Given the description of an element on the screen output the (x, y) to click on. 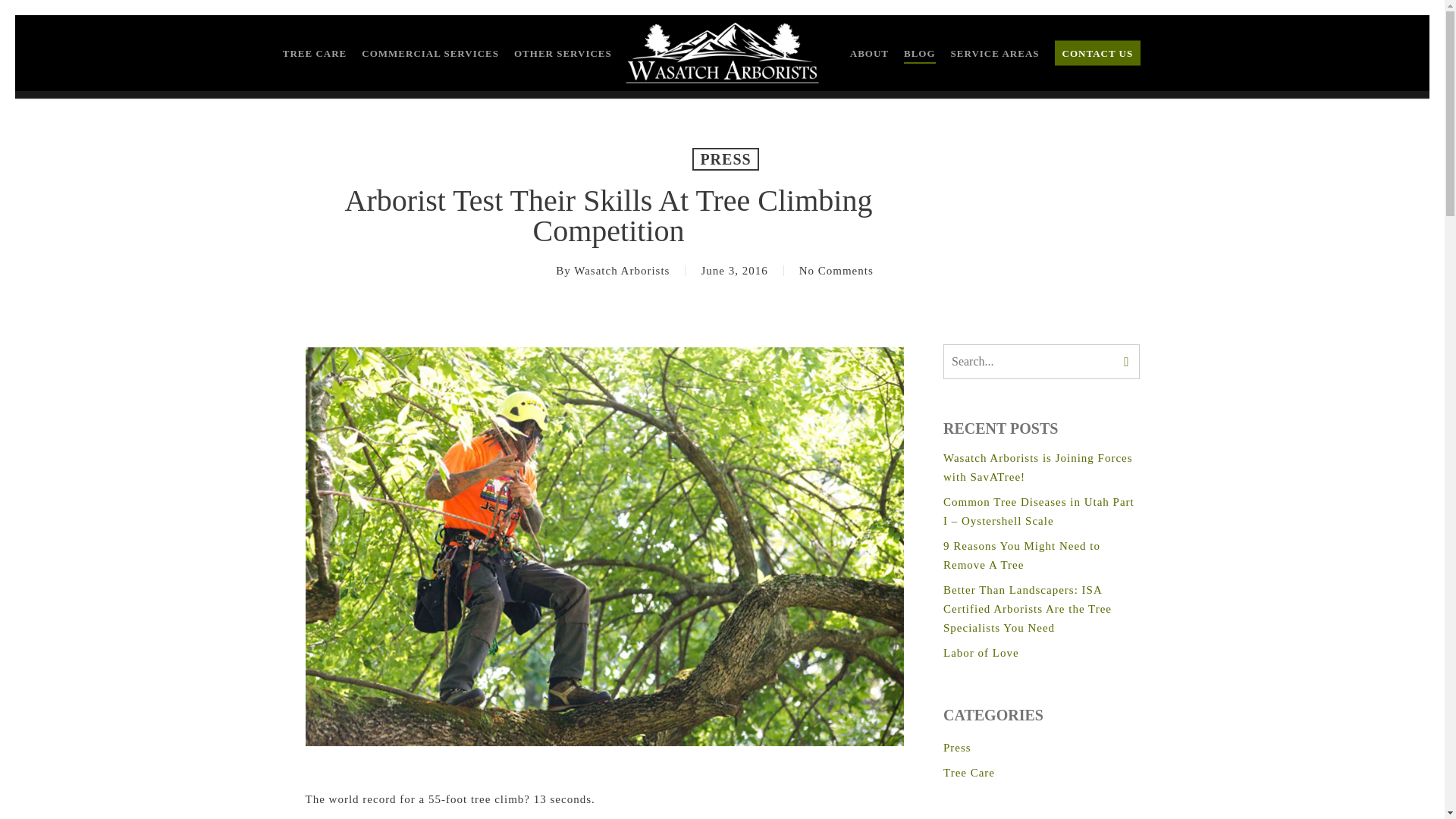
Posts by Wasatch Arborists (621, 270)
Labor of Love (1041, 652)
BLOG (920, 53)
COMMERCIAL SERVICES (430, 53)
SERVICE AREAS (994, 53)
ABOUT (869, 53)
PRESS (725, 159)
No Comments (836, 270)
CONTACT US (1097, 53)
